Given the description of an element on the screen output the (x, y) to click on. 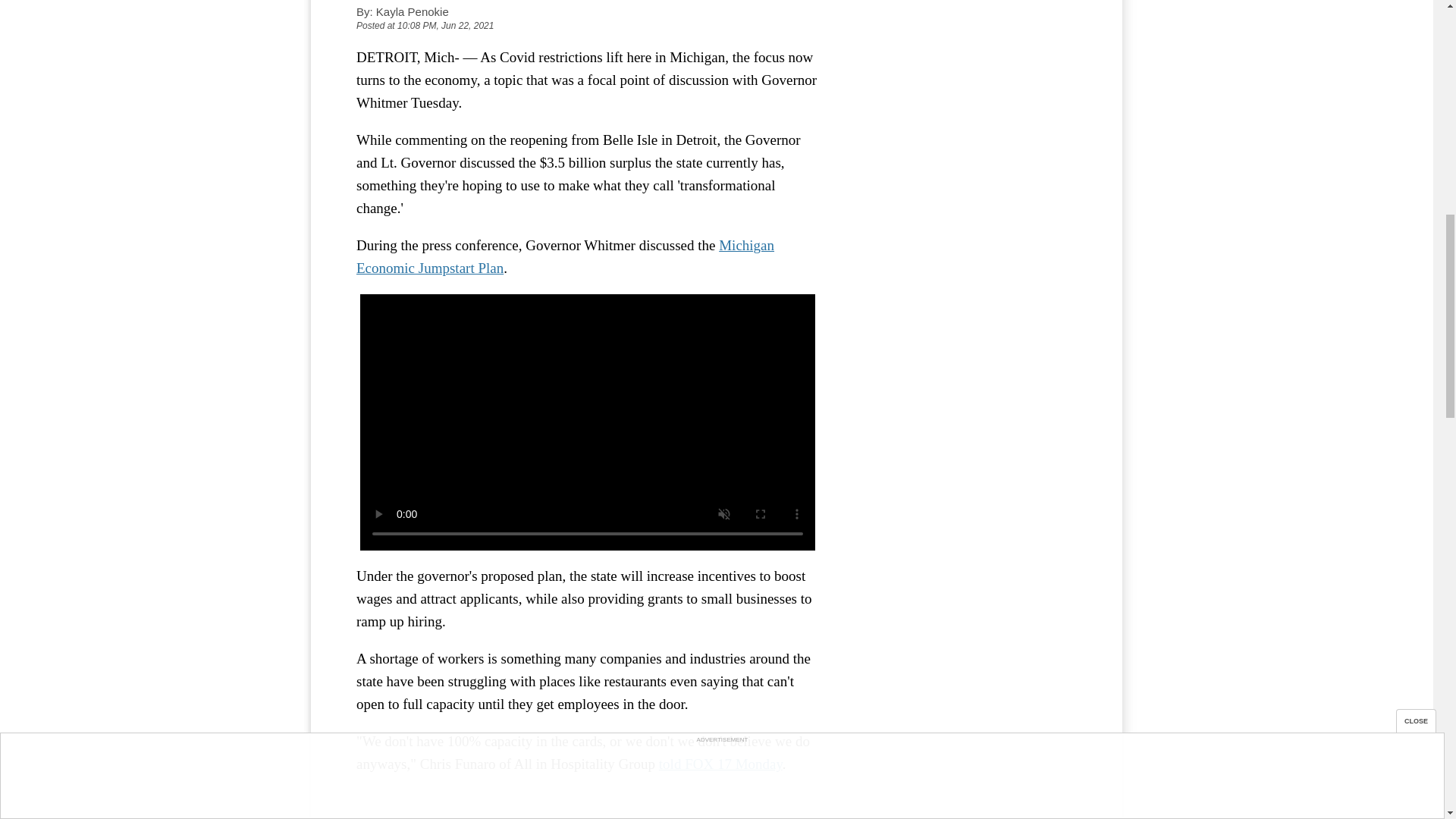
3rd party ad content (962, 45)
